Given the description of an element on the screen output the (x, y) to click on. 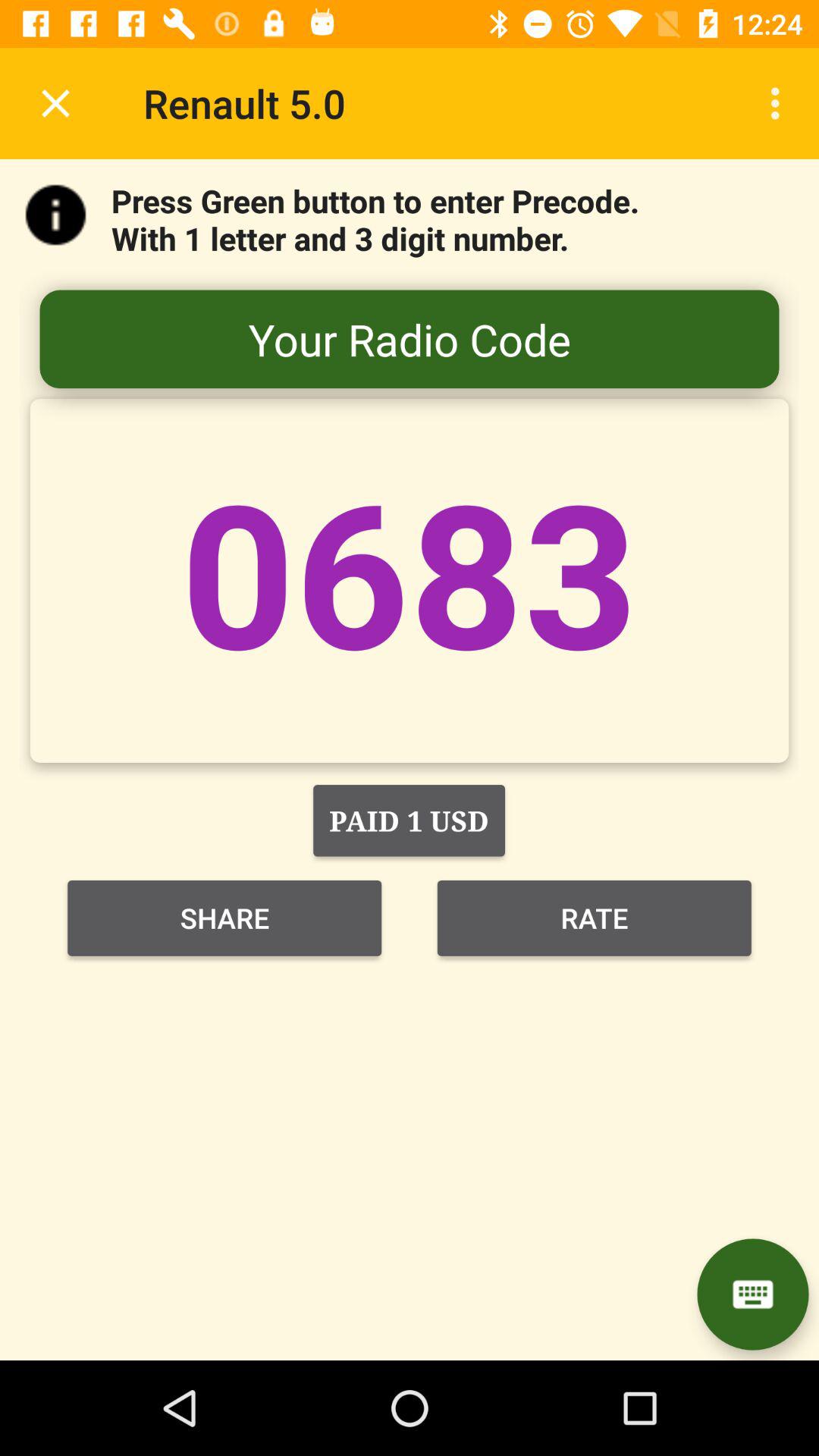
open keyboard (752, 1294)
